Given the description of an element on the screen output the (x, y) to click on. 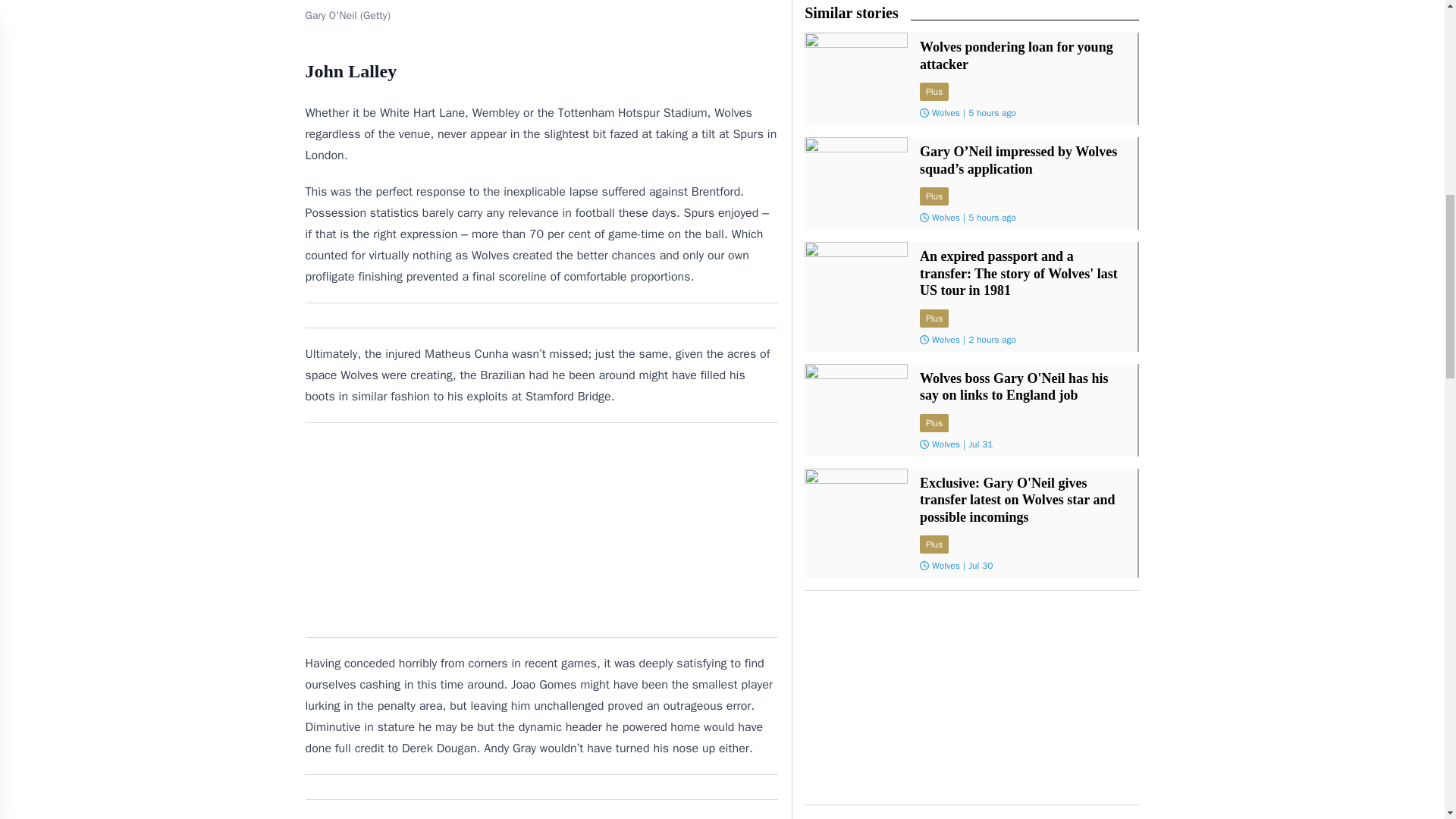
Wolves (945, 112)
Wolves (945, 565)
Wolves (945, 217)
Wolves (945, 339)
Wolves (945, 444)
